Given the description of an element on the screen output the (x, y) to click on. 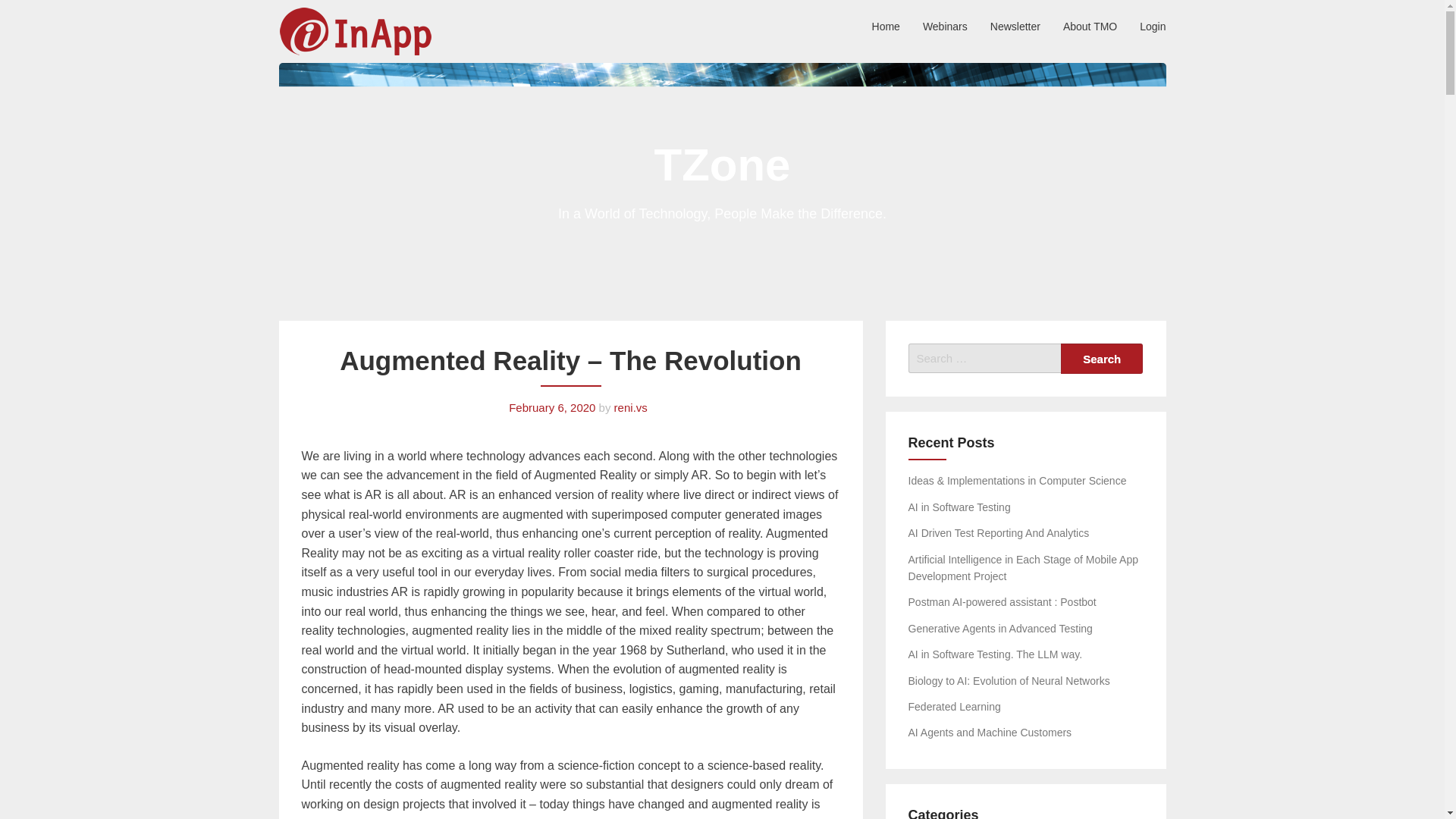
AI Agents and Machine Customers (989, 732)
About TMO (1089, 26)
Home (885, 26)
Search (1101, 358)
Search (1101, 358)
AI in Software Testing (959, 507)
Webinars (944, 26)
Postman AI-powered assistant : Postbot (1002, 602)
Newsletter (1014, 26)
